Given the description of an element on the screen output the (x, y) to click on. 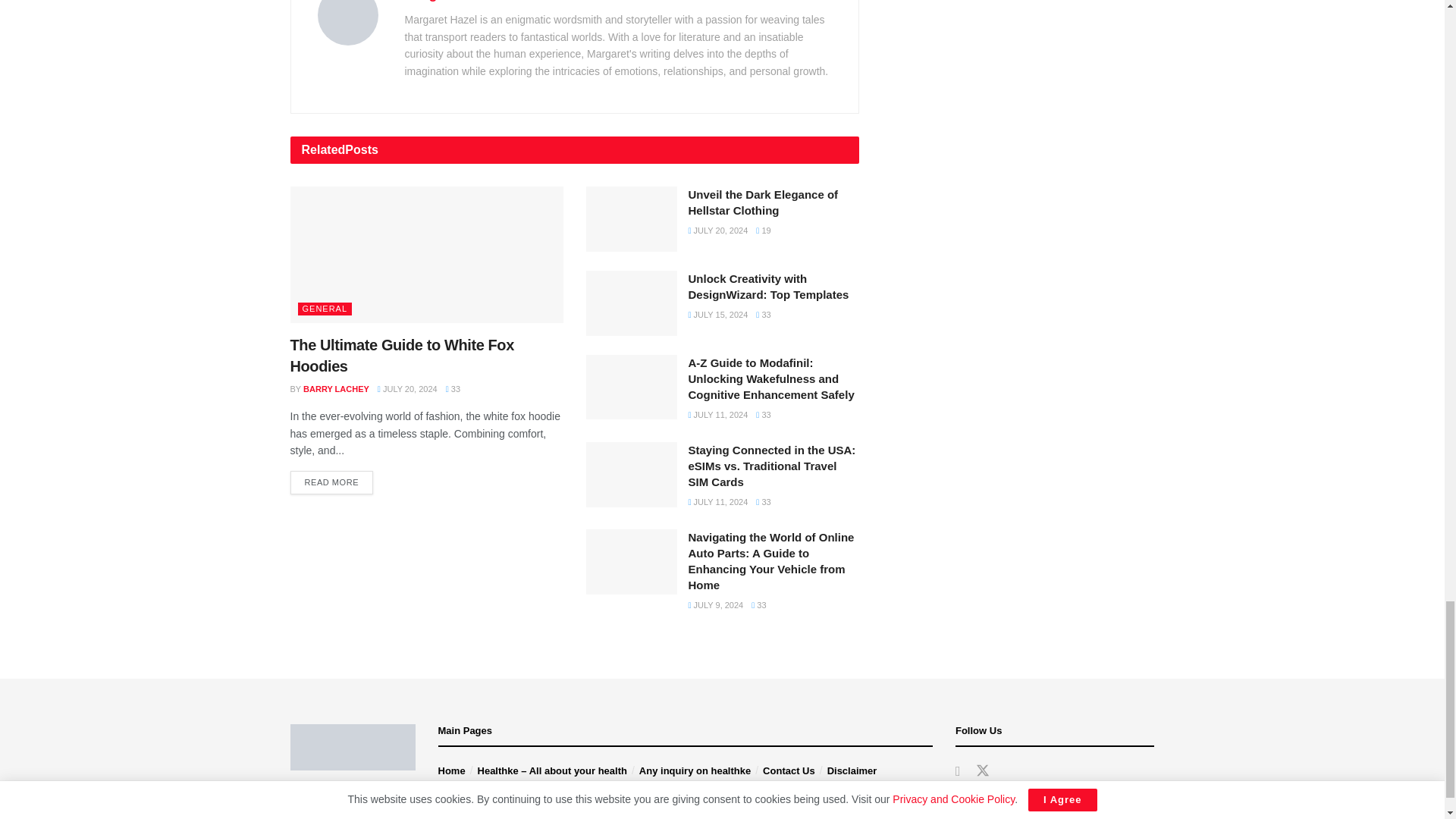
Tech (330, 793)
Healthke (346, 810)
